Given the description of an element on the screen output the (x, y) to click on. 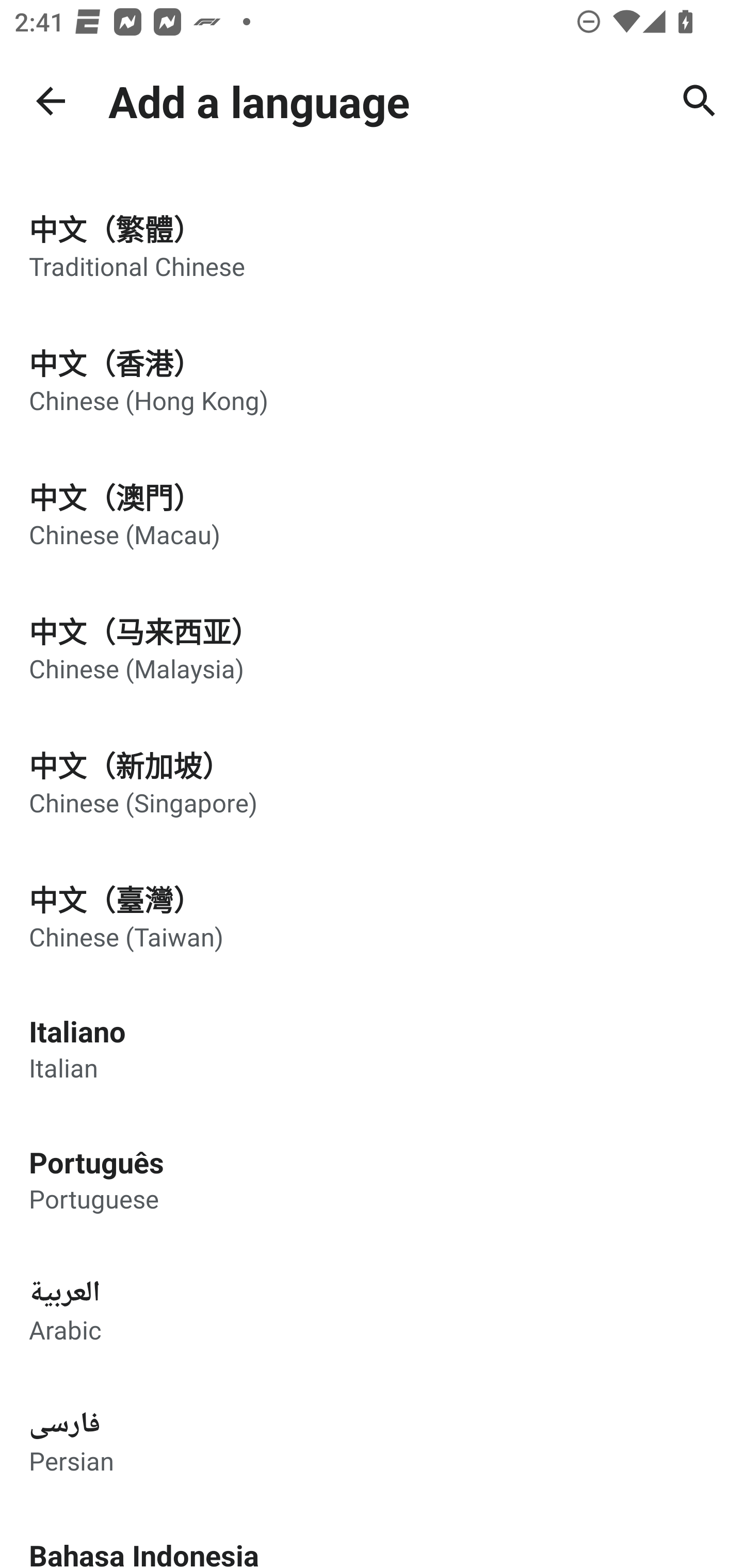
Navigate up (50, 101)
Search for a language (699, 101)
中文（繁體） Traditional Chinese (371, 244)
中文（香港） Chinese (Hong Kong) (371, 379)
中文（澳門） Chinese (Macau) (371, 513)
中文（马来西亚） Chinese (Malaysia) (371, 647)
中文（新加坡） Chinese (Singapore) (371, 781)
中文（臺灣） Chinese (Taiwan) (371, 915)
Italiano Italian (371, 1048)
Português Portuguese (371, 1178)
العربية Arabic (371, 1309)
فارسی Persian (371, 1440)
